Given the description of an element on the screen output the (x, y) to click on. 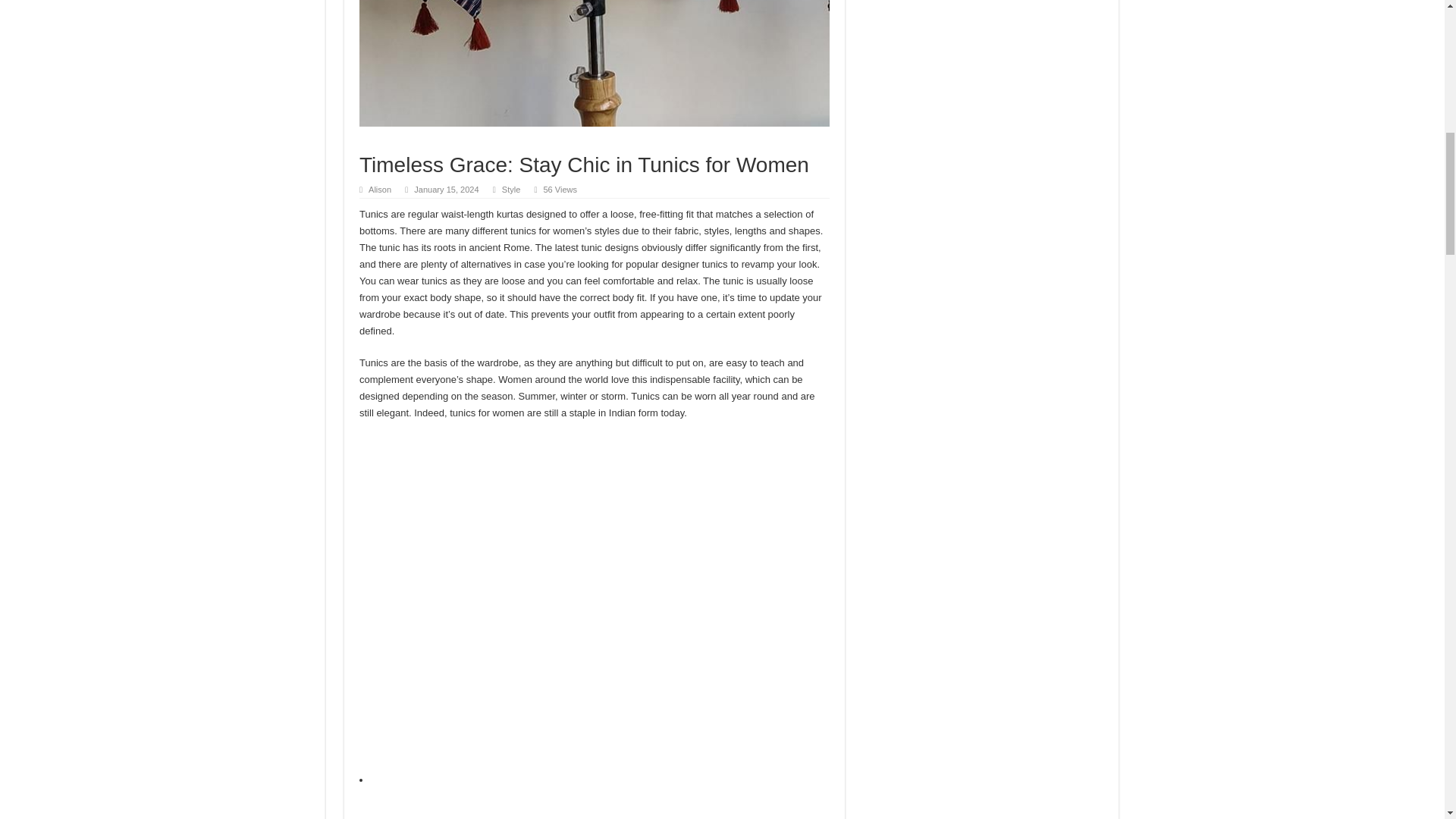
Timeless Grace: Stay Chic in Tunics for Women (594, 63)
Style (511, 189)
Scroll To Top (1421, 60)
Alison (379, 189)
